Given the description of an element on the screen output the (x, y) to click on. 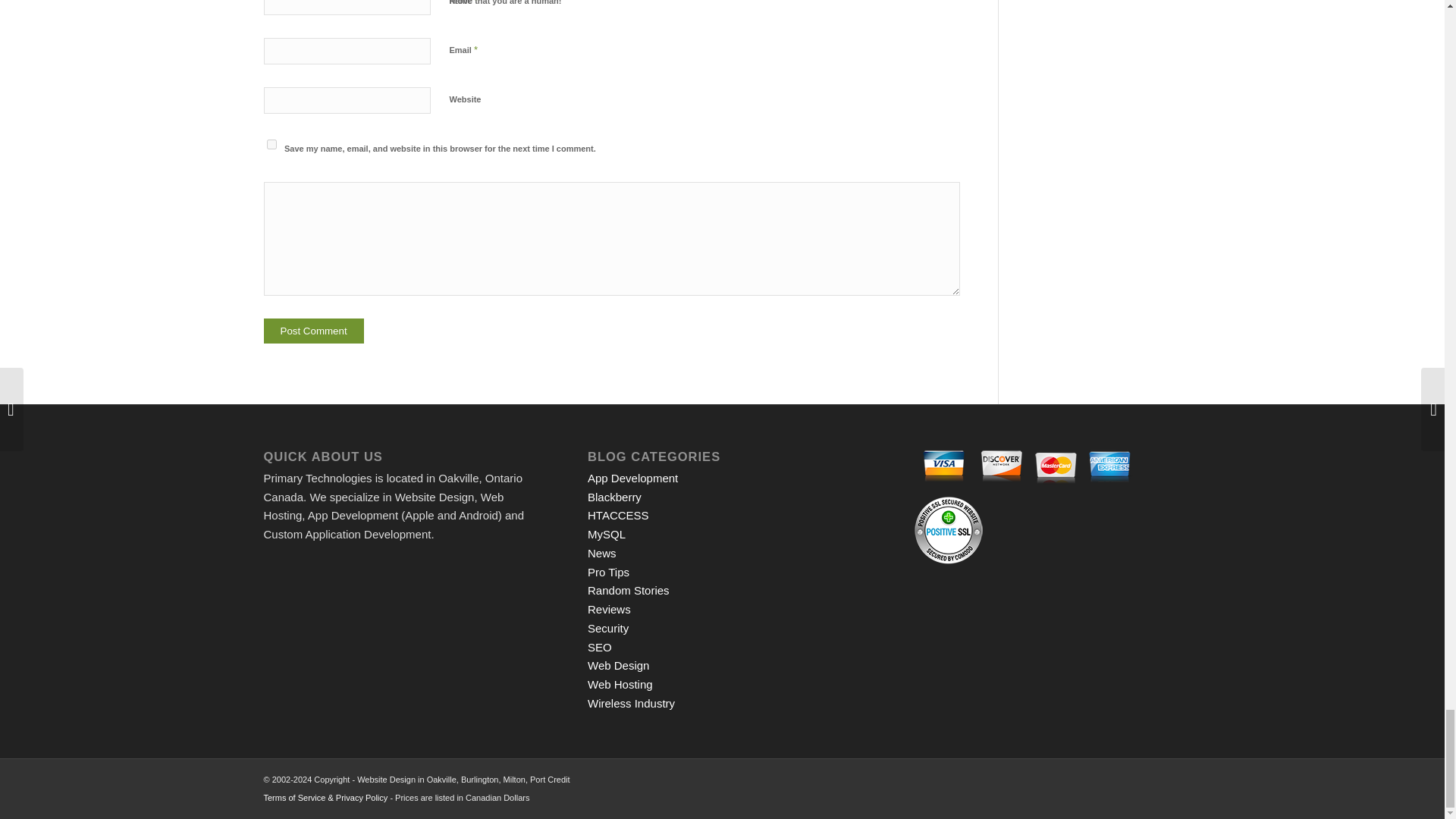
yes (271, 144)
Post Comment (313, 330)
